Given the description of an element on the screen output the (x, y) to click on. 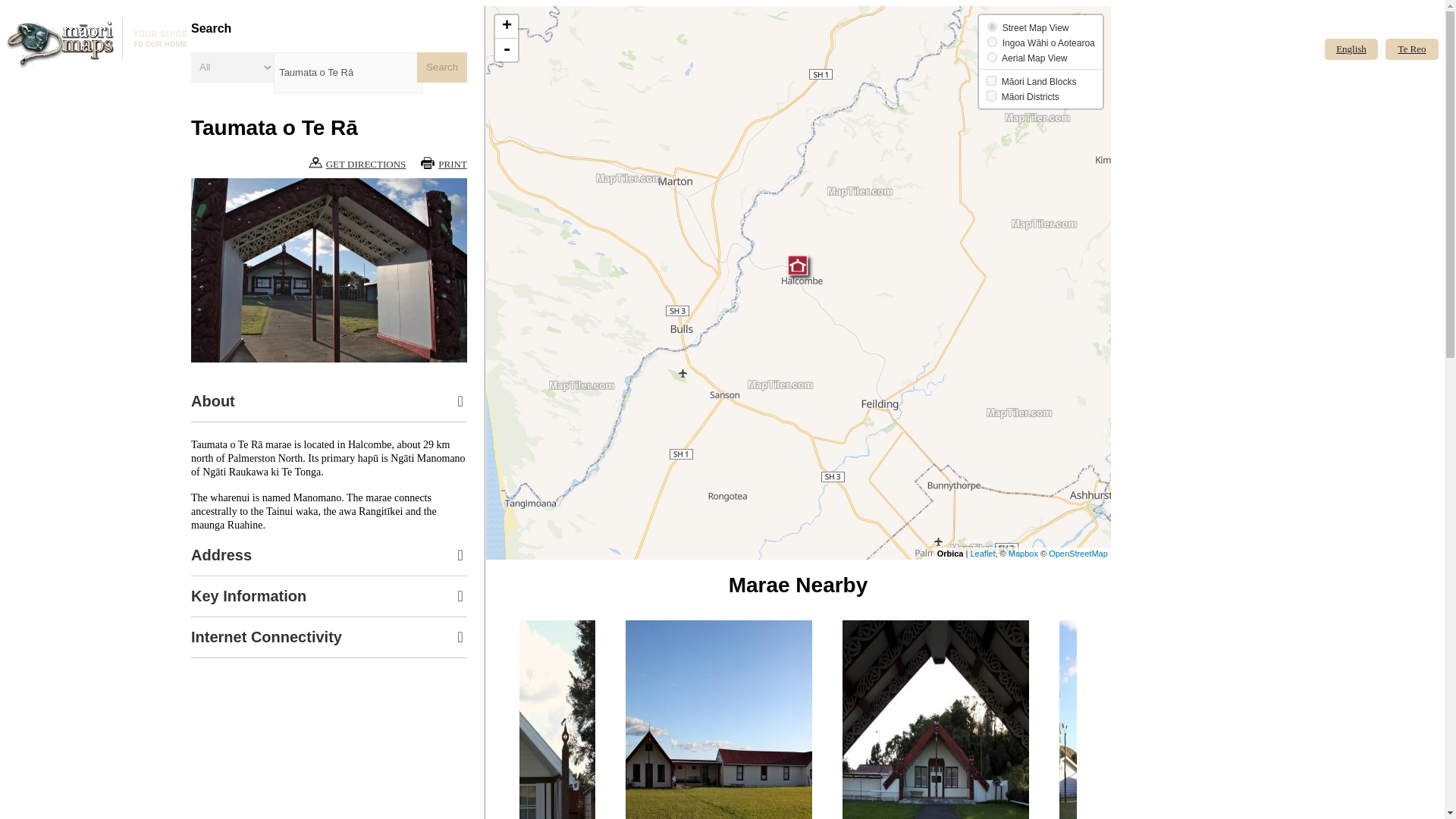
Internet Connectivity (328, 637)
on (992, 41)
Leaflet (981, 552)
Key Information (328, 596)
Orbica (950, 552)
SCHOLARSHIP (1176, 72)
on (992, 57)
Mapbox (1023, 552)
GET DIRECTIONS (357, 163)
INFO (1152, 84)
ABOUT US (1166, 60)
HOME (1155, 36)
Address (328, 555)
on (991, 80)
English (1350, 48)
